Given the description of an element on the screen output the (x, y) to click on. 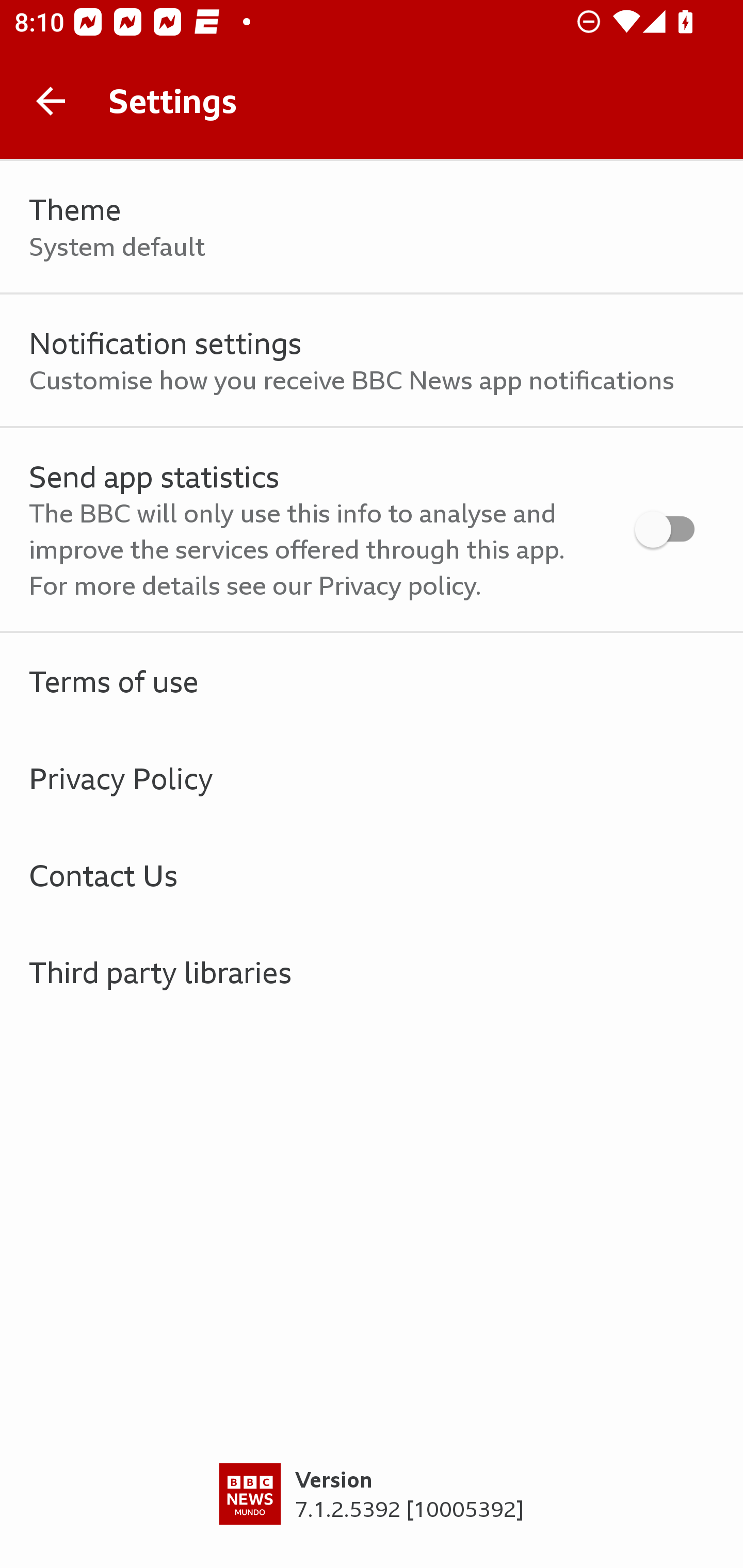
Back (50, 101)
Theme System default (371, 227)
Terms of use (371, 681)
Privacy Policy (371, 777)
Contact Us (371, 874)
Third party libraries (371, 971)
Version 7.1.2.5392 [10005392] (371, 1515)
